Given the description of an element on the screen output the (x, y) to click on. 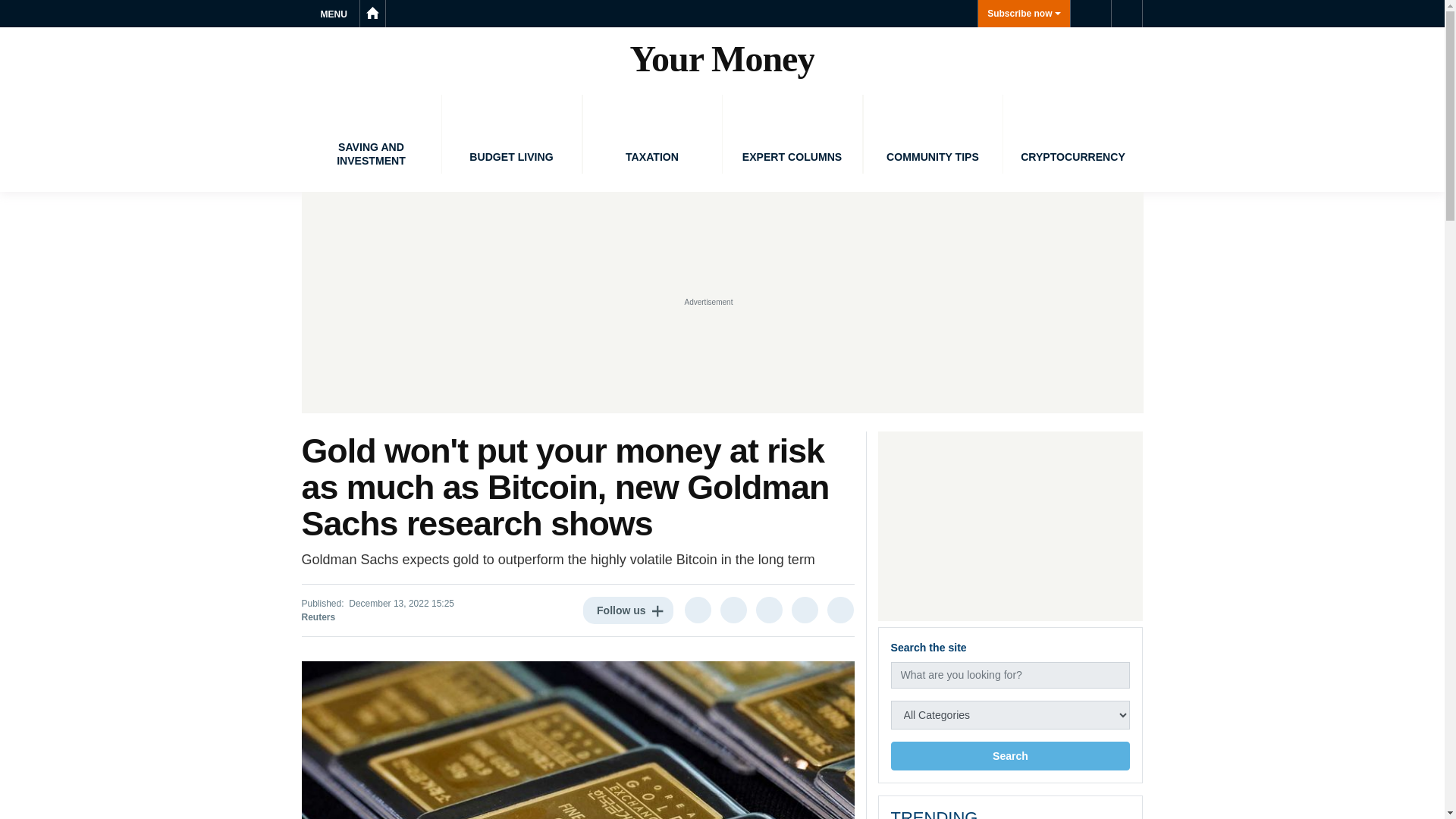
Subscribe now (1024, 13)
MENU (336, 13)
